Given the description of an element on the screen output the (x, y) to click on. 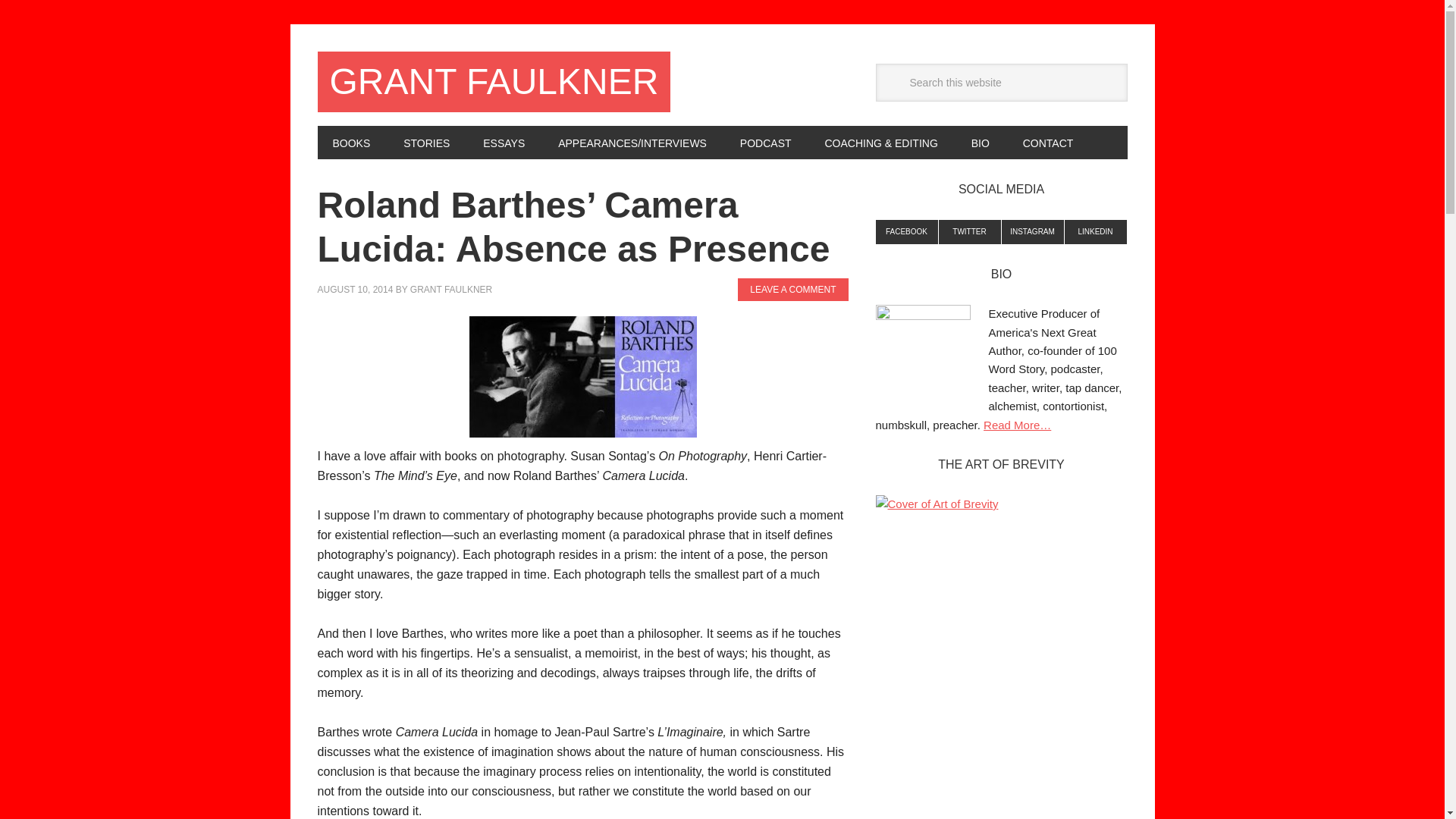
STORIES (426, 142)
BOOKS (351, 142)
LINKEDIN (1095, 232)
BIO (980, 142)
CONTACT (1048, 142)
GRANT FAULKNER (493, 81)
FACEBOOK (906, 232)
